Given the description of an element on the screen output the (x, y) to click on. 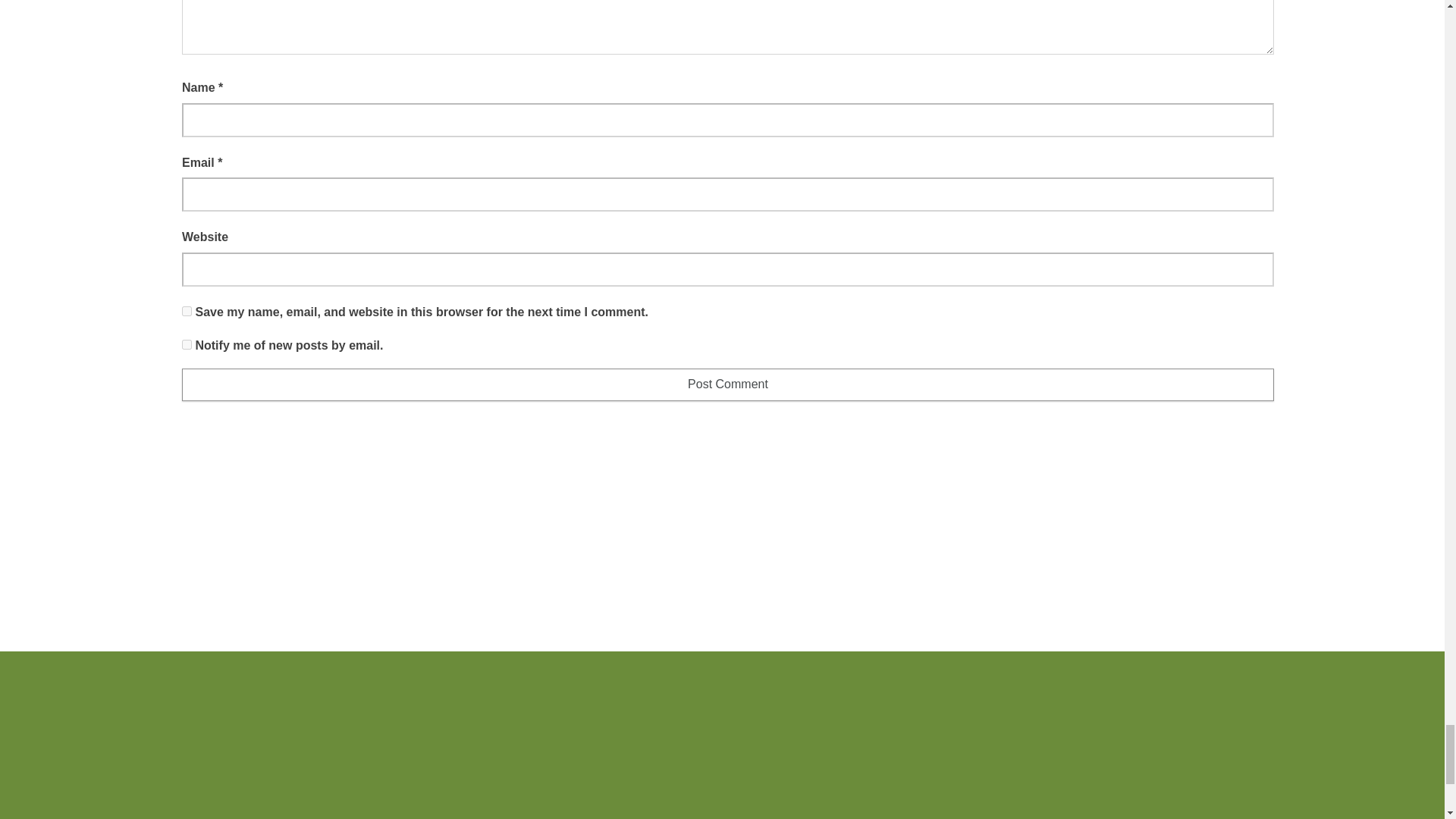
subscribe (187, 344)
yes (187, 311)
Post Comment (728, 384)
